Given the description of an element on the screen output the (x, y) to click on. 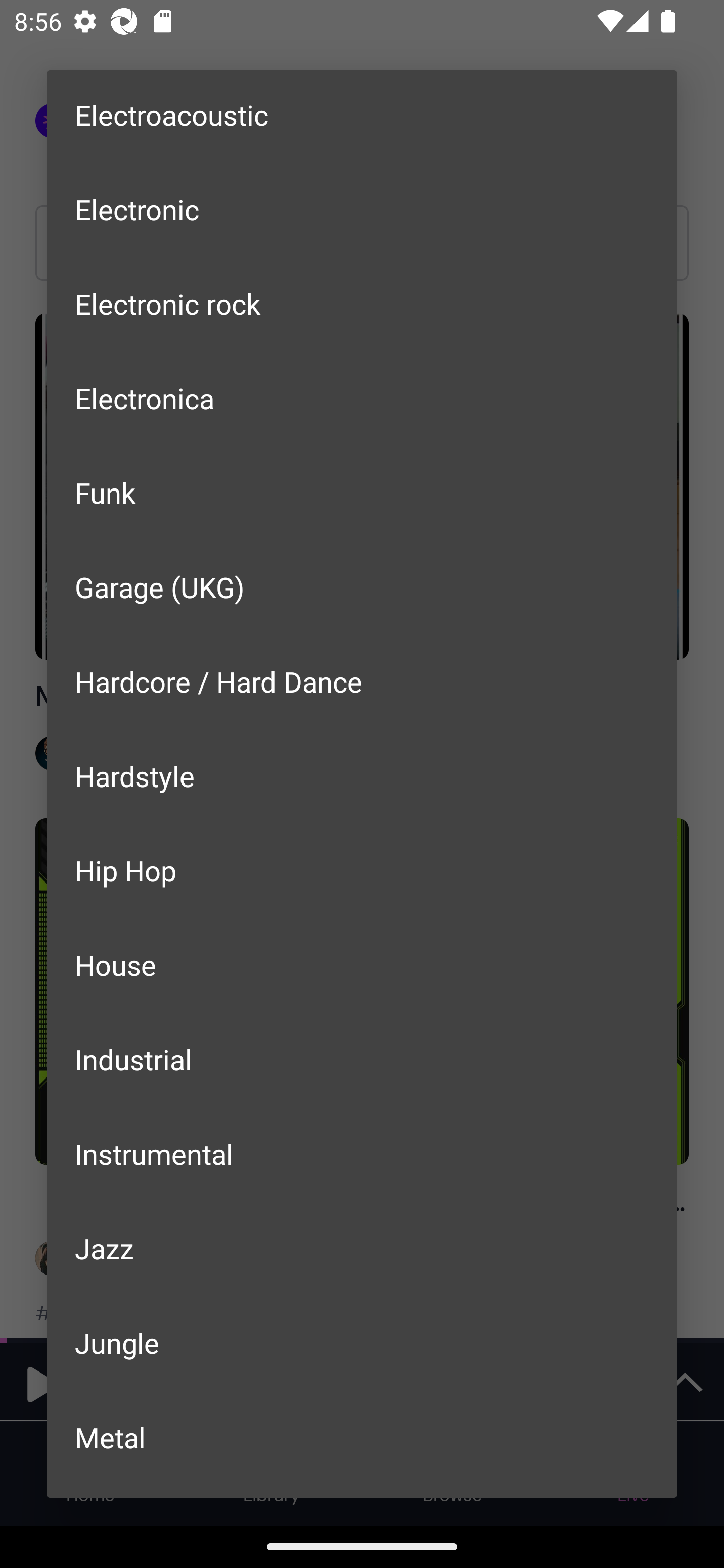
Electroacoustic (361, 115)
Electronic (361, 208)
Electronic rock (361, 303)
Electronica (361, 398)
Funk (361, 492)
Garage (UKG) (361, 586)
Hardcore / Hard Dance (361, 681)
Hardstyle (361, 776)
Hip Hop (361, 870)
House (361, 964)
Industrial (361, 1059)
Instrumental (361, 1154)
Jazz (361, 1248)
Jungle (361, 1342)
Metal (361, 1437)
